Given the description of an element on the screen output the (x, y) to click on. 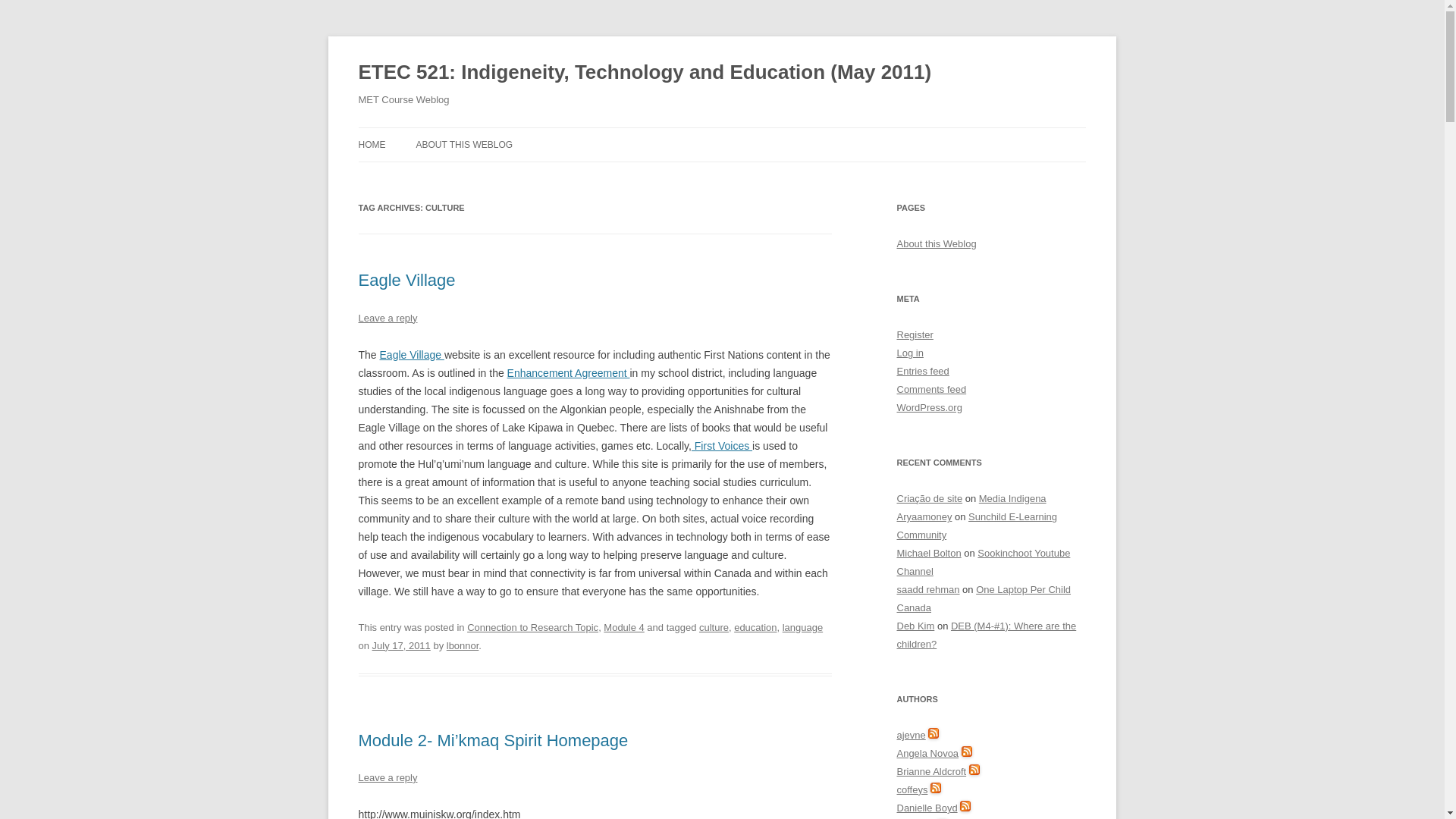
View all posts by lbonnor (462, 645)
Module 4 (623, 627)
Connection to Research Topic (532, 627)
ABOUT THIS WEBLOG (463, 144)
July 17, 2011 (401, 645)
culture (713, 627)
Enhancement Agreement (568, 372)
education (754, 627)
10:36 am (401, 645)
Leave a reply (387, 317)
Eagle Village (406, 280)
First Voices (721, 445)
language (802, 627)
Leave a reply (387, 777)
